Given the description of an element on the screen output the (x, y) to click on. 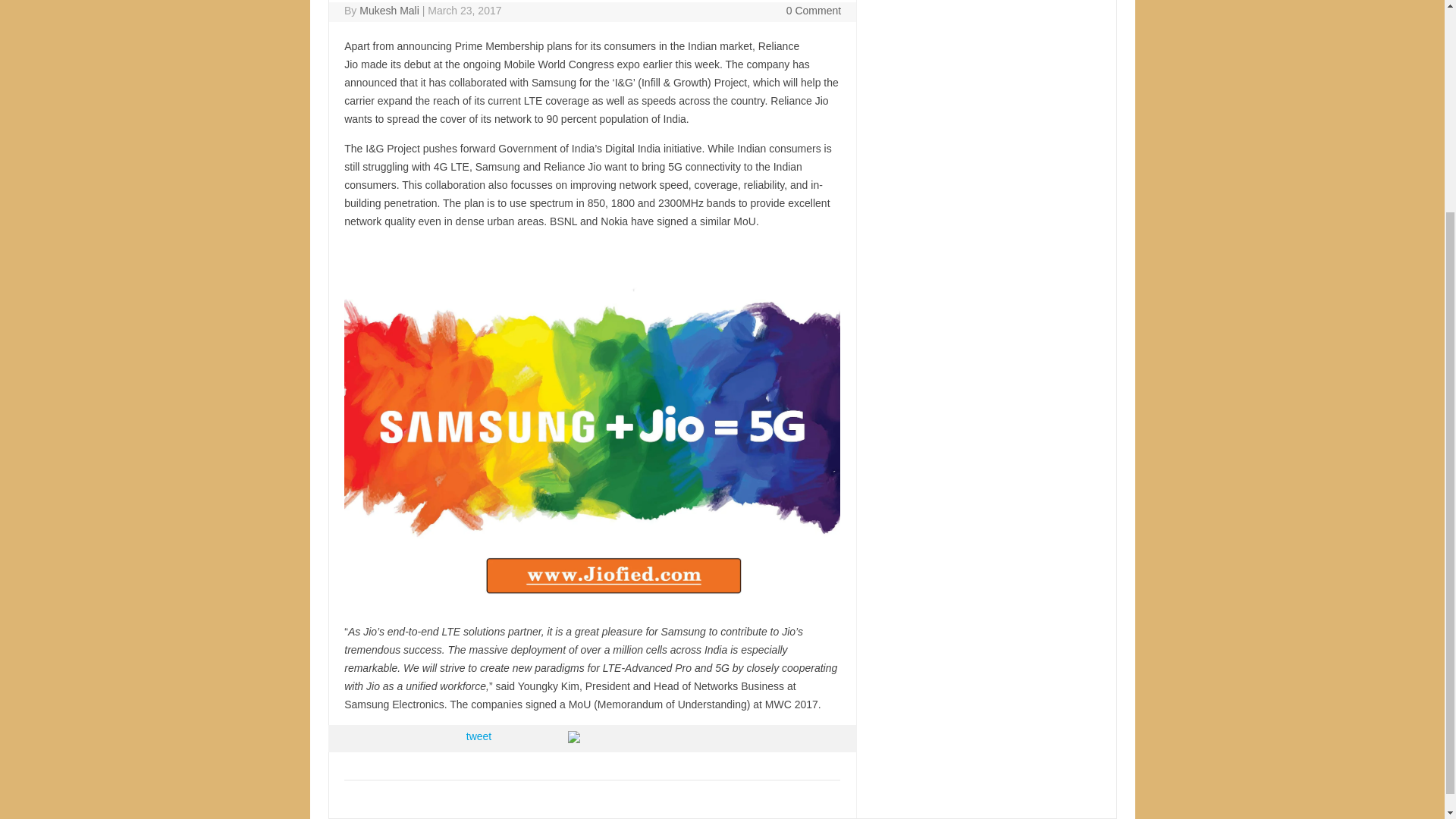
tweet (478, 736)
Mukesh Mali (389, 10)
0 Comment (813, 10)
Posts by Mukesh Mali (389, 10)
